Given the description of an element on the screen output the (x, y) to click on. 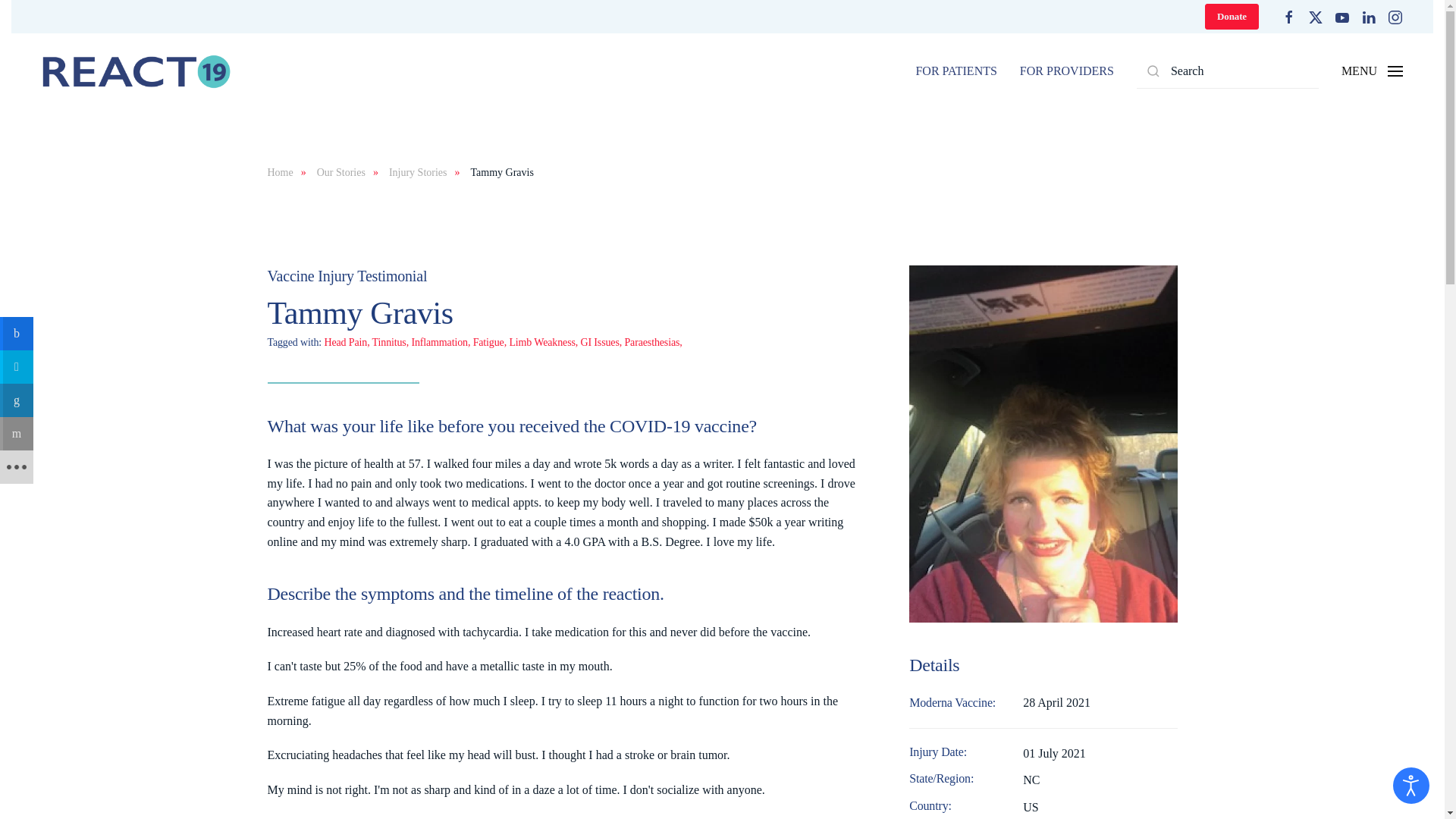
Donate (1231, 16)
Details (1042, 702)
Vaccine Injury Testimonial (1042, 665)
Tammy Gravis (561, 275)
Describe the symptoms and the timeline of the reaction. (561, 313)
Open accessibility tools (561, 594)
